Given the description of an element on the screen output the (x, y) to click on. 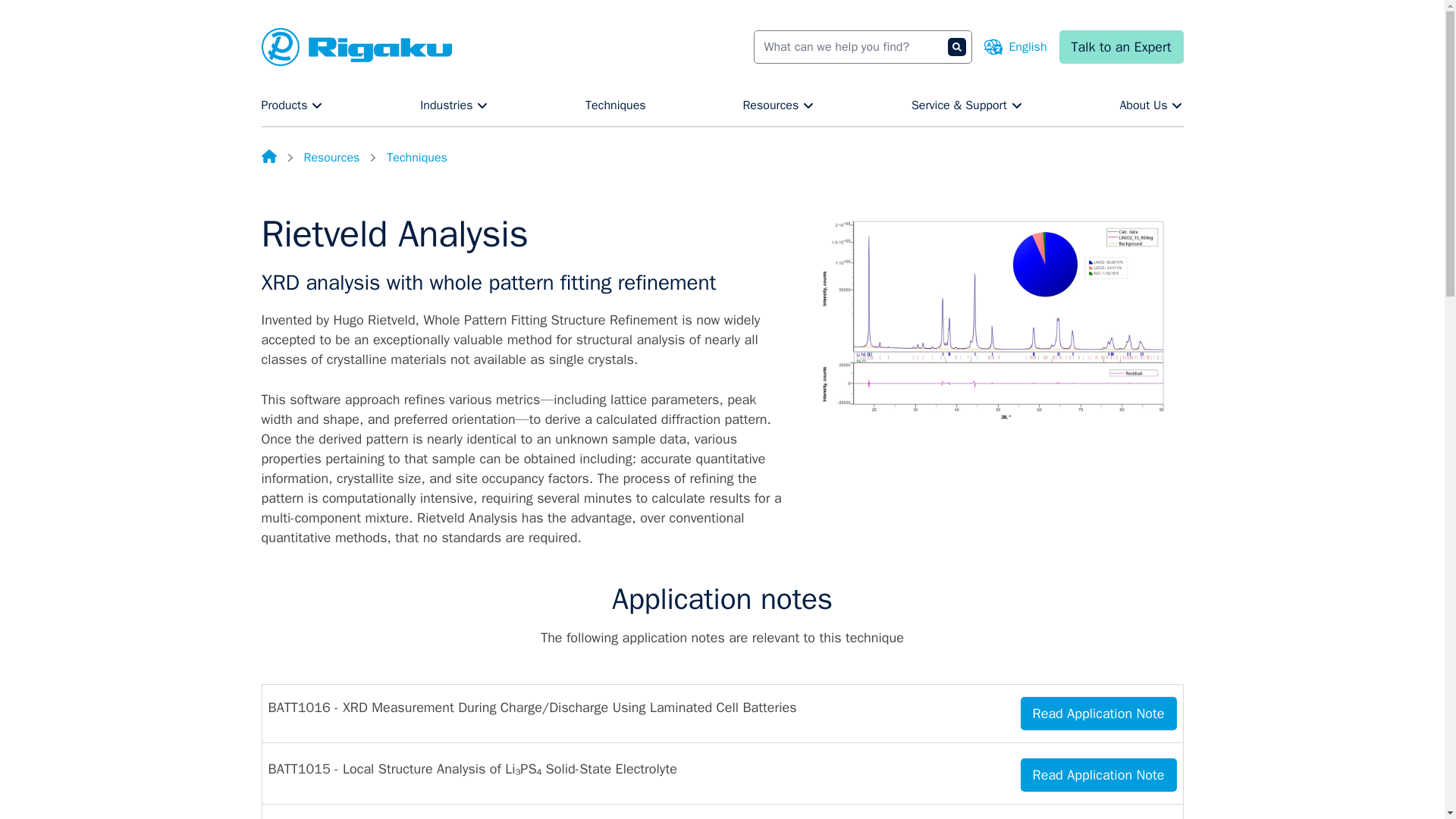
English (1015, 46)
Products (291, 105)
About Us (1150, 105)
Talk to an Expert (1121, 46)
Industries (453, 105)
Techniques (615, 105)
Resources (777, 105)
